Given the description of an element on the screen output the (x, y) to click on. 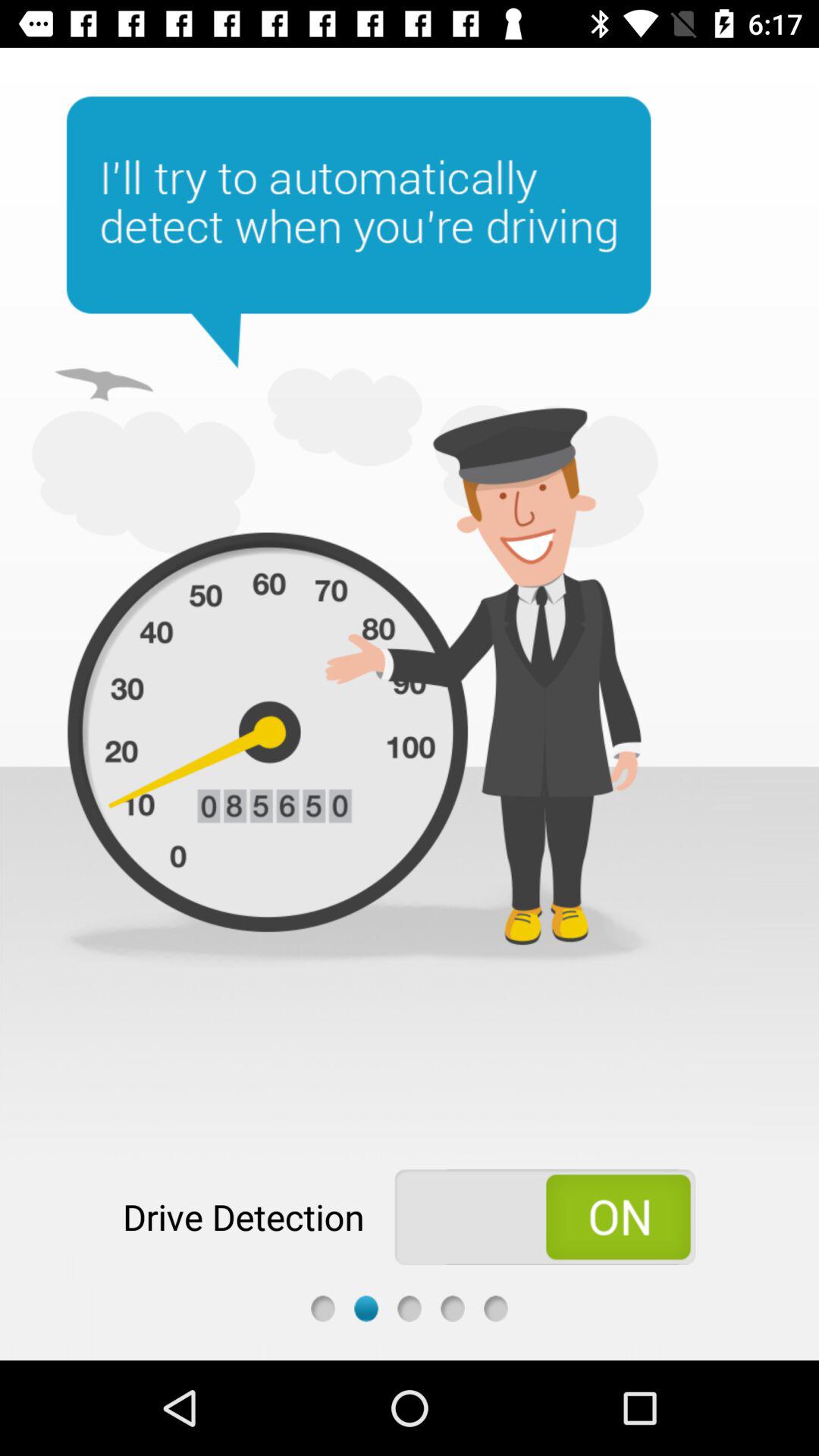
go to the next slide (366, 1308)
